Given the description of an element on the screen output the (x, y) to click on. 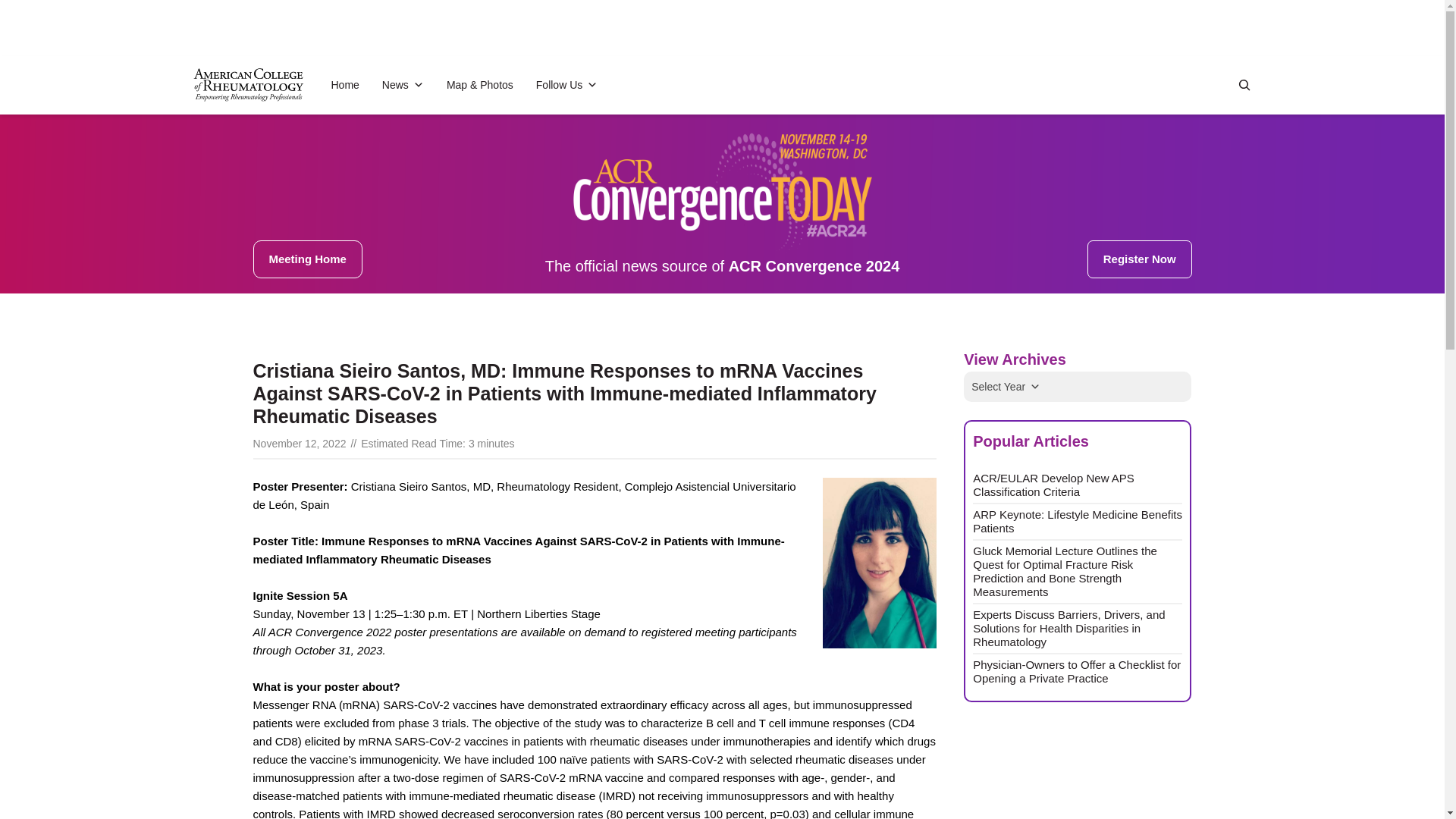
Follow Us (566, 84)
News (402, 84)
Home (344, 84)
